Given the description of an element on the screen output the (x, y) to click on. 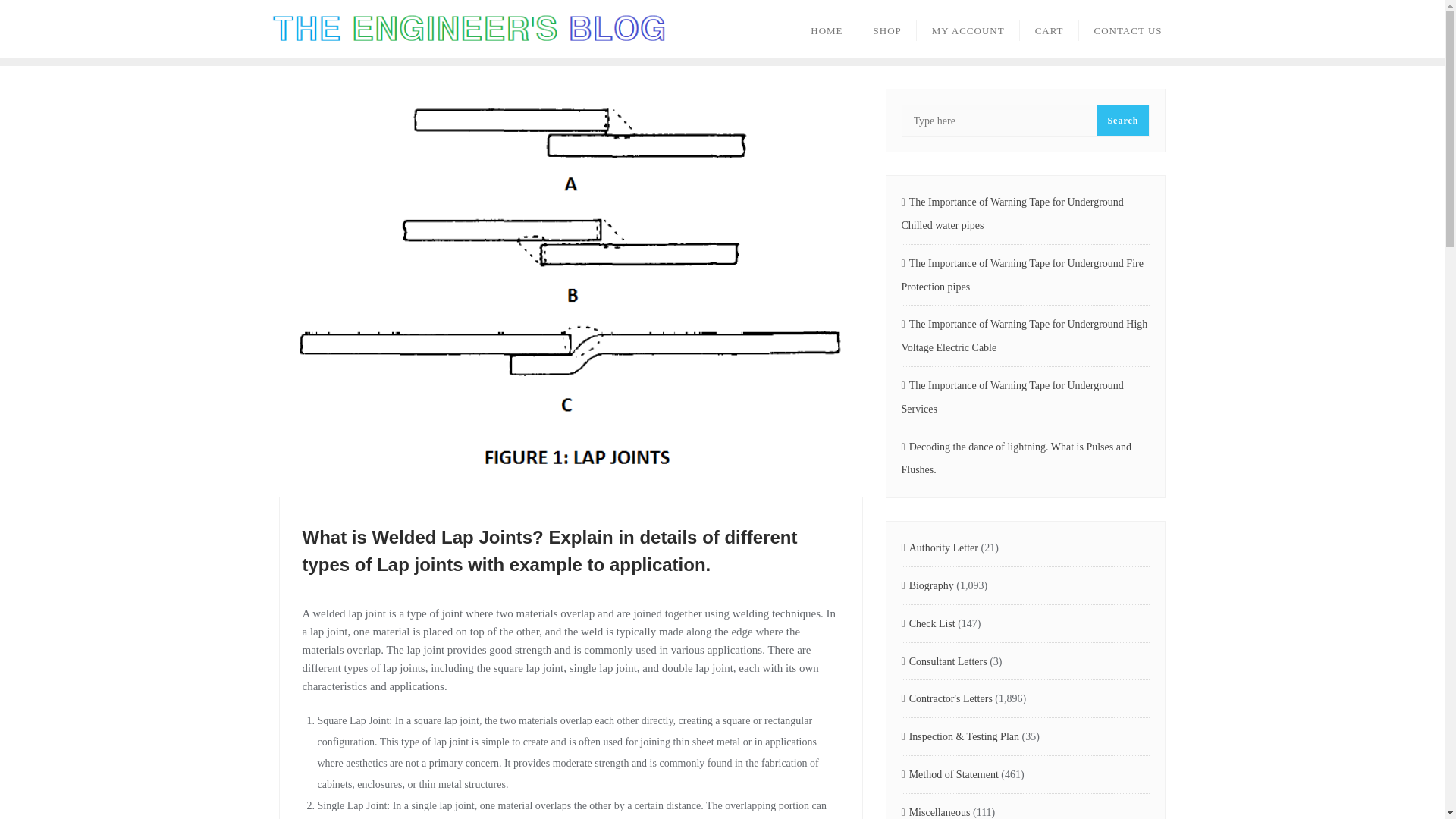
Contractor's Letters (946, 699)
Consultant Letters (944, 662)
Decoding the dance of lightning. What is Pulses and Flushes. (1025, 459)
Search (1122, 120)
SHOP (888, 29)
Biography (927, 586)
The Importance of Warning Tape for Underground Services (1025, 397)
HOME (825, 29)
Check List (928, 624)
MY ACCOUNT (968, 29)
CART (1049, 29)
Method of Statement (949, 775)
